Given the description of an element on the screen output the (x, y) to click on. 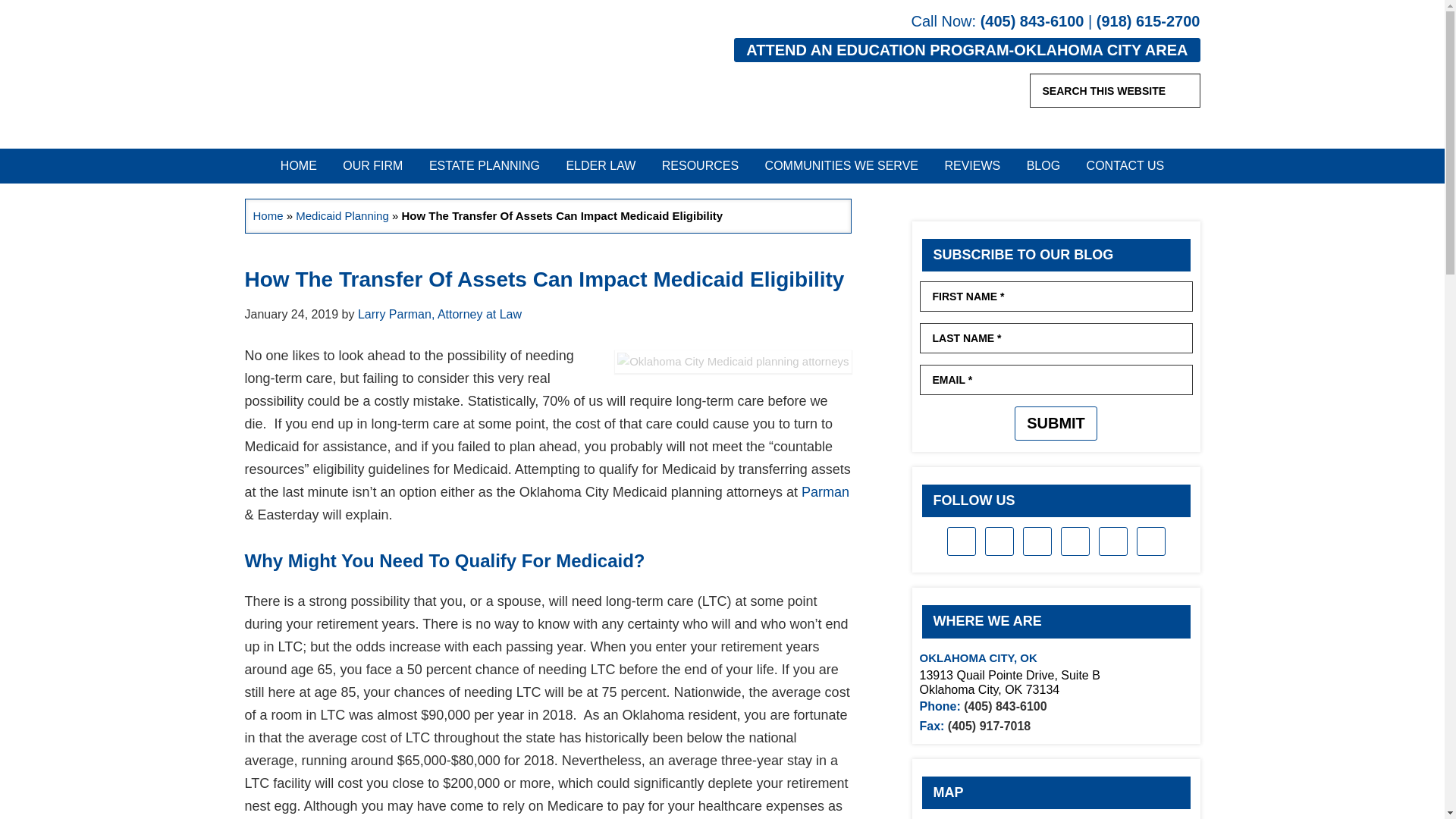
ATTEND AN EDUCATION PROGRAM-OKLAHOMA CITY AREA (966, 49)
Search (1184, 90)
ELDER LAW (600, 165)
HOME (299, 165)
RESOURCES (699, 165)
OUR FIRM (372, 165)
Search (1184, 90)
Search (1184, 90)
ESTATE PLANNING (484, 165)
